Given the description of an element on the screen output the (x, y) to click on. 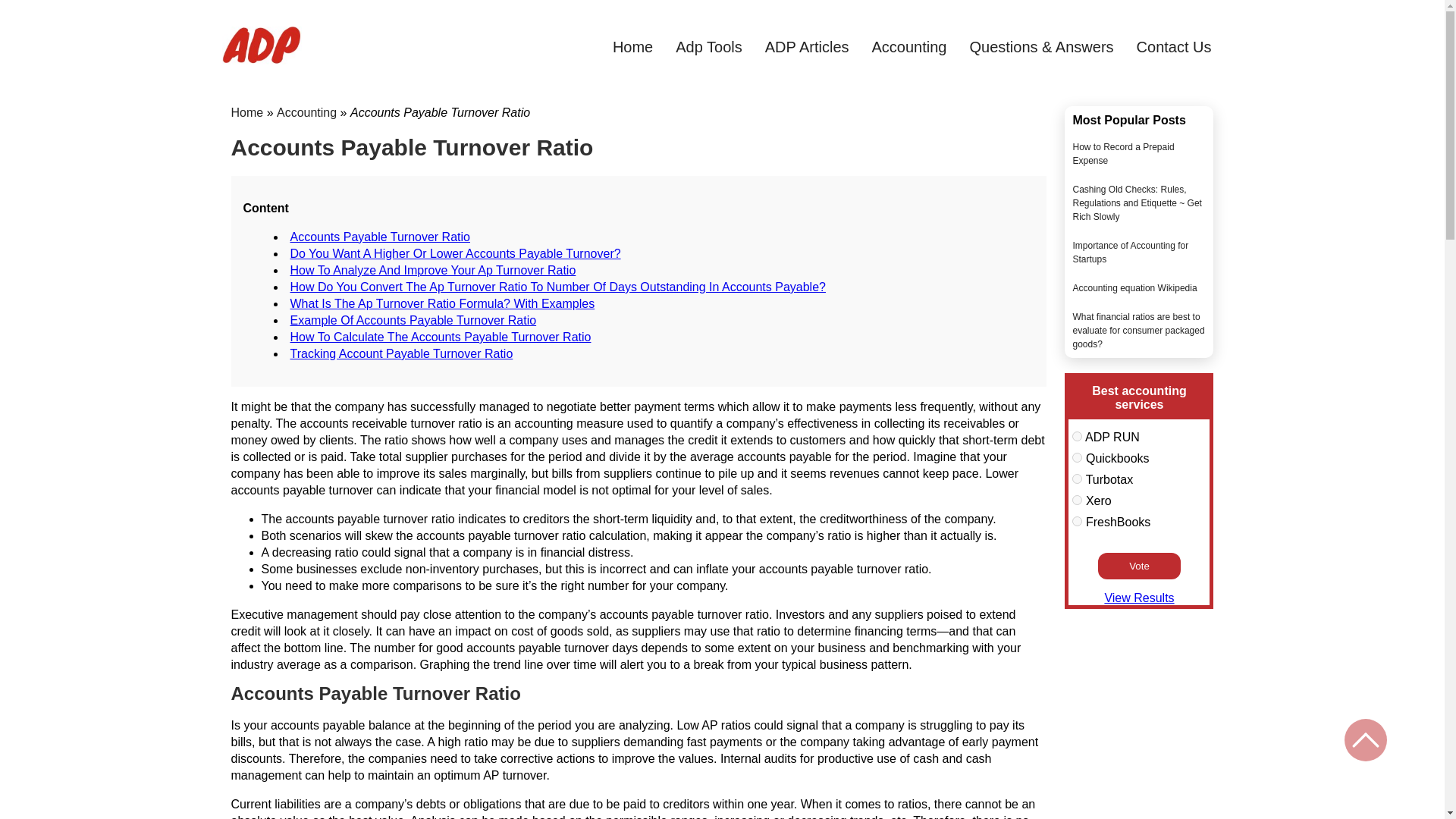
   Vote    (1138, 565)
Accounts Payable Turnover Ratio (378, 236)
How To Calculate The Accounts Payable Turnover Ratio (440, 336)
Example Of Accounts Payable Turnover Ratio (412, 319)
Accounting (909, 47)
Home (246, 112)
Accounting (306, 112)
6 (1076, 436)
Accounting equation Wikipedia (1133, 287)
Home (632, 47)
7 (1076, 457)
9 (1076, 500)
How to Record a Prepaid Expense (1122, 153)
ADP Articles (806, 47)
